Given the description of an element on the screen output the (x, y) to click on. 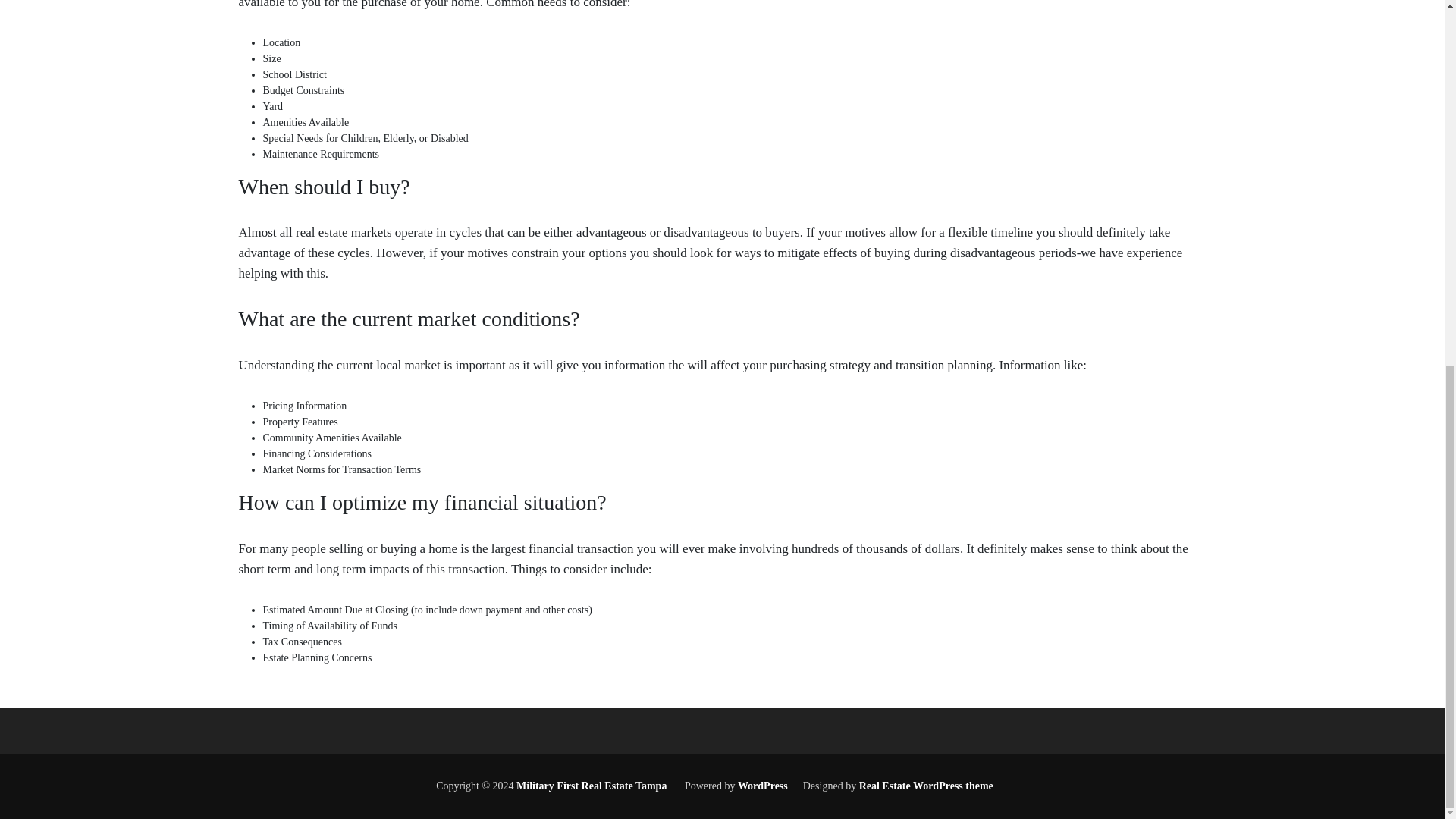
WordPress (762, 785)
Real Estate WordPress theme (924, 785)
Military First Real Estate Tampa (589, 785)
